Given the description of an element on the screen output the (x, y) to click on. 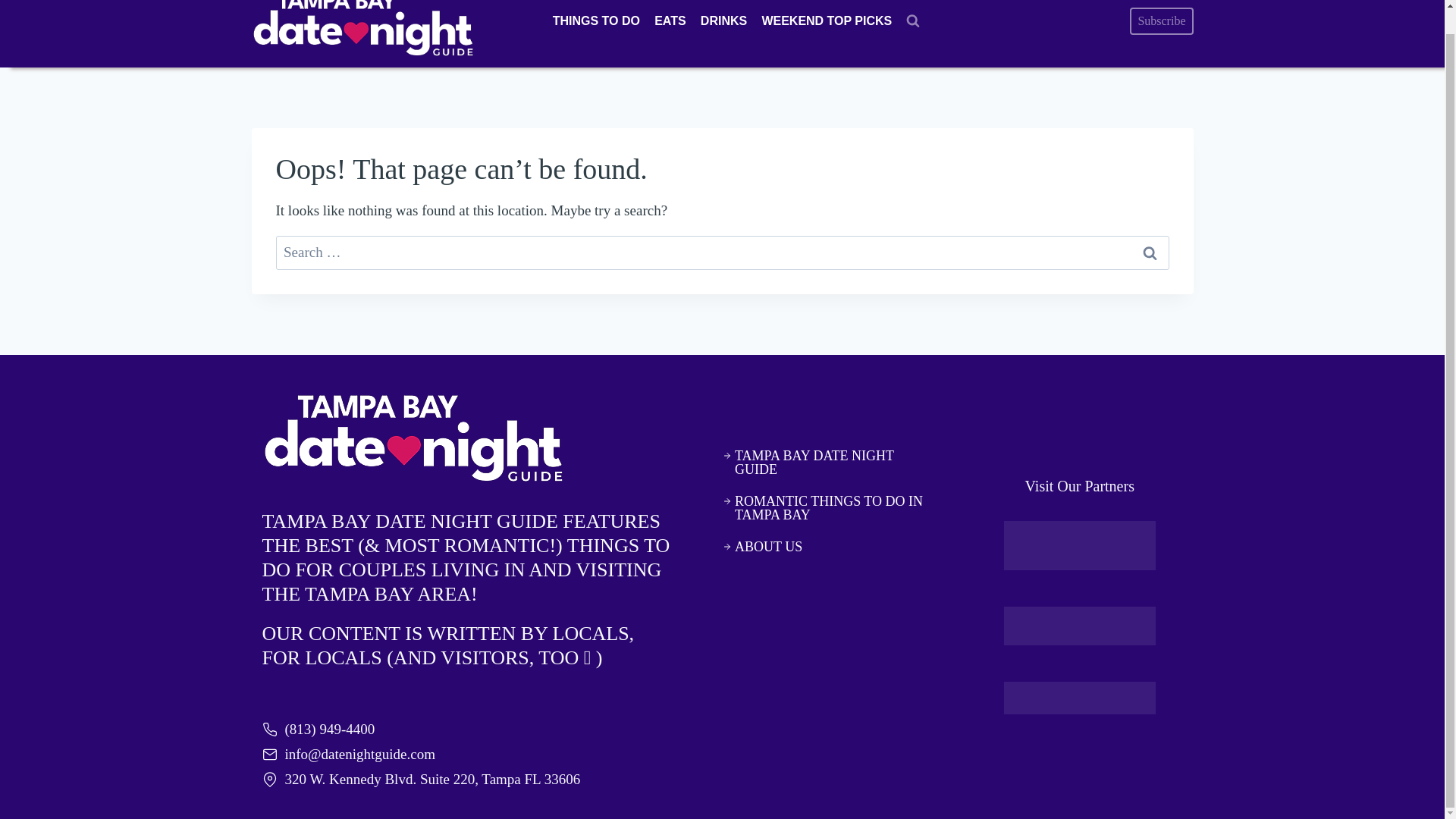
Link to Orlando Parenting's website, orlando-parenting.com (1080, 625)
Link to Tampa Bay Parenting's website,  (1080, 697)
Search (1150, 252)
Subscribe (1160, 21)
Link to Orlando Date Night Guide's website (1080, 545)
THINGS TO DO (595, 21)
WEEKEND TOP PICKS (826, 21)
DRINKS (723, 21)
TAMPA BAY DATE NIGHT GUIDE (825, 461)
EATS (670, 21)
Search (1150, 252)
ABOUT US (825, 546)
ROMANTIC THINGS TO DO IN TAMPA BAY (825, 507)
Search (1150, 252)
